Given the description of an element on the screen output the (x, y) to click on. 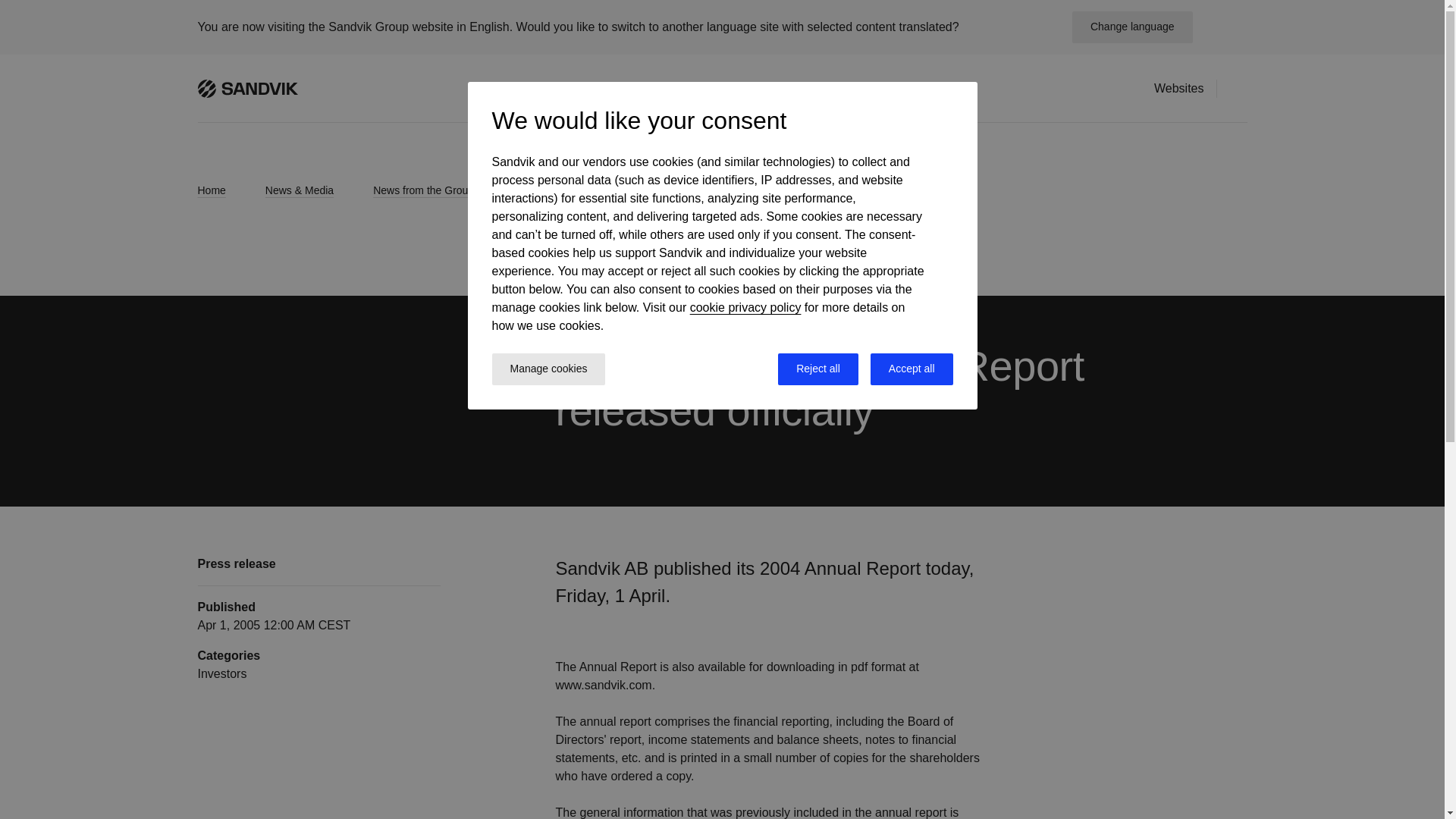
Offerings (548, 87)
cookie privacy policy (746, 307)
News from the Group (436, 190)
Home (223, 190)
Stories (860, 87)
Change language (1131, 27)
April (600, 190)
Websites (1179, 87)
2005 (538, 190)
Manage cookies (548, 368)
Search (1237, 87)
About us (926, 87)
Investors (622, 87)
Careers (692, 87)
Close (1225, 26)
